Given the description of an element on the screen output the (x, y) to click on. 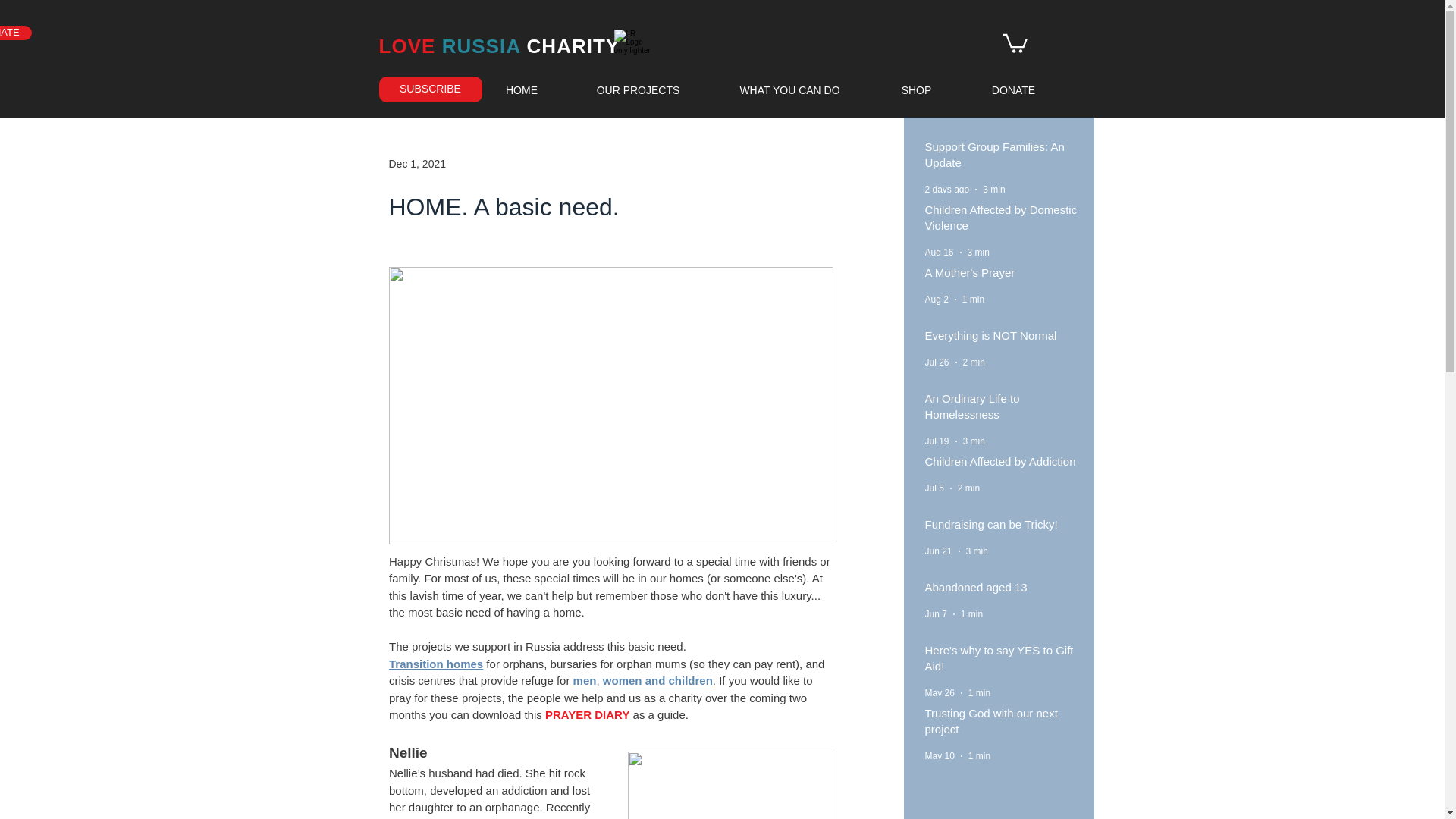
1 min (979, 692)
3 min (973, 440)
SUBSCRIBE (429, 89)
RUSSIA (481, 46)
WHAT YOU CAN DO (789, 89)
Jun 7 (935, 614)
DONATE (1012, 89)
2 min (968, 488)
2 days ago (946, 189)
SHOP (916, 89)
